Given the description of an element on the screen output the (x, y) to click on. 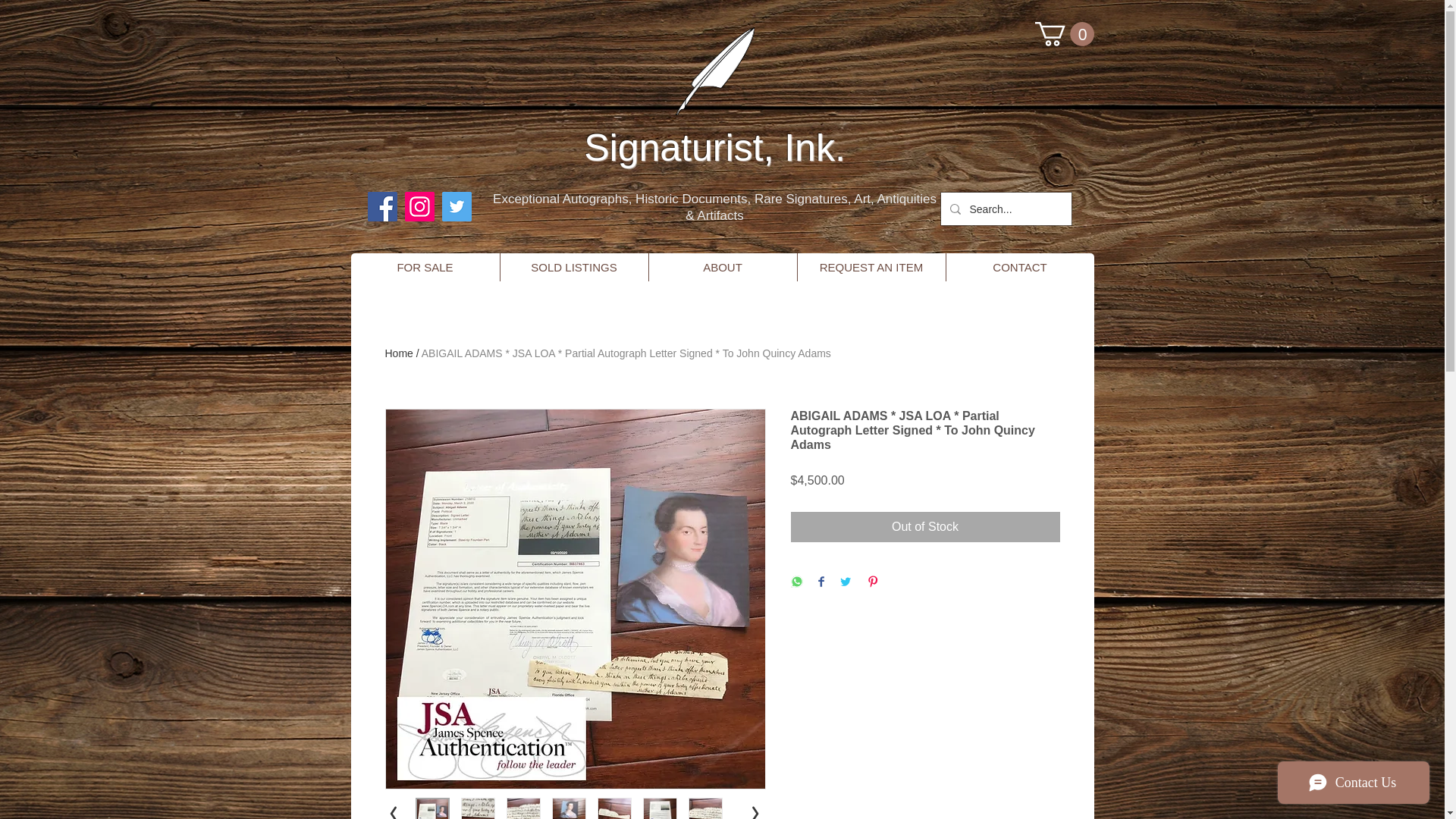
Home (399, 353)
Signaturist, Ink. (714, 147)
0 (1063, 33)
CONTACT (1018, 267)
ABOUT (721, 267)
SOLD LISTINGS (573, 267)
FOR SALE (424, 267)
REQUEST AN ITEM (870, 267)
0 (1063, 33)
